Given the description of an element on the screen output the (x, y) to click on. 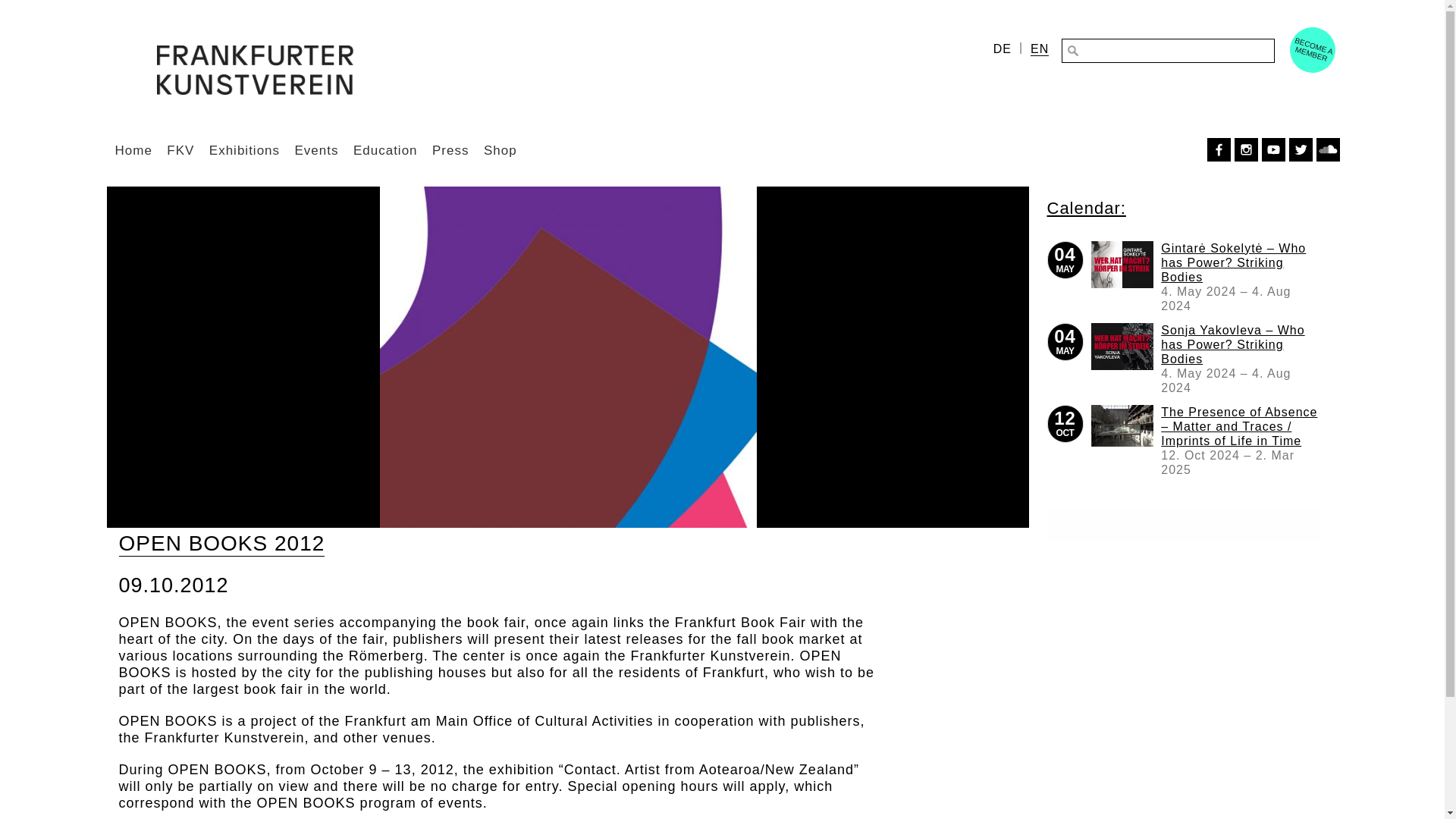
OPEN BOOKS 2012 (1122, 346)
BECOME A MEMBER (1306, 43)
OPEN BOOKS 2012 (1122, 264)
Frankfurter Kunstverein (255, 83)
Cerca: (1166, 50)
OPEN BOOKS 2012 (1122, 425)
